Given the description of an element on the screen output the (x, y) to click on. 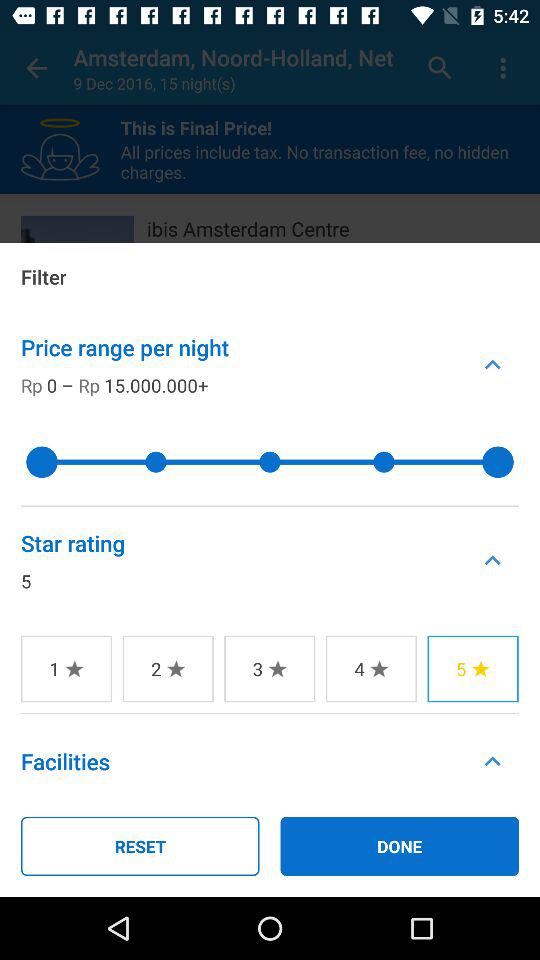
click the icon below facilities item (140, 846)
